Given the description of an element on the screen output the (x, y) to click on. 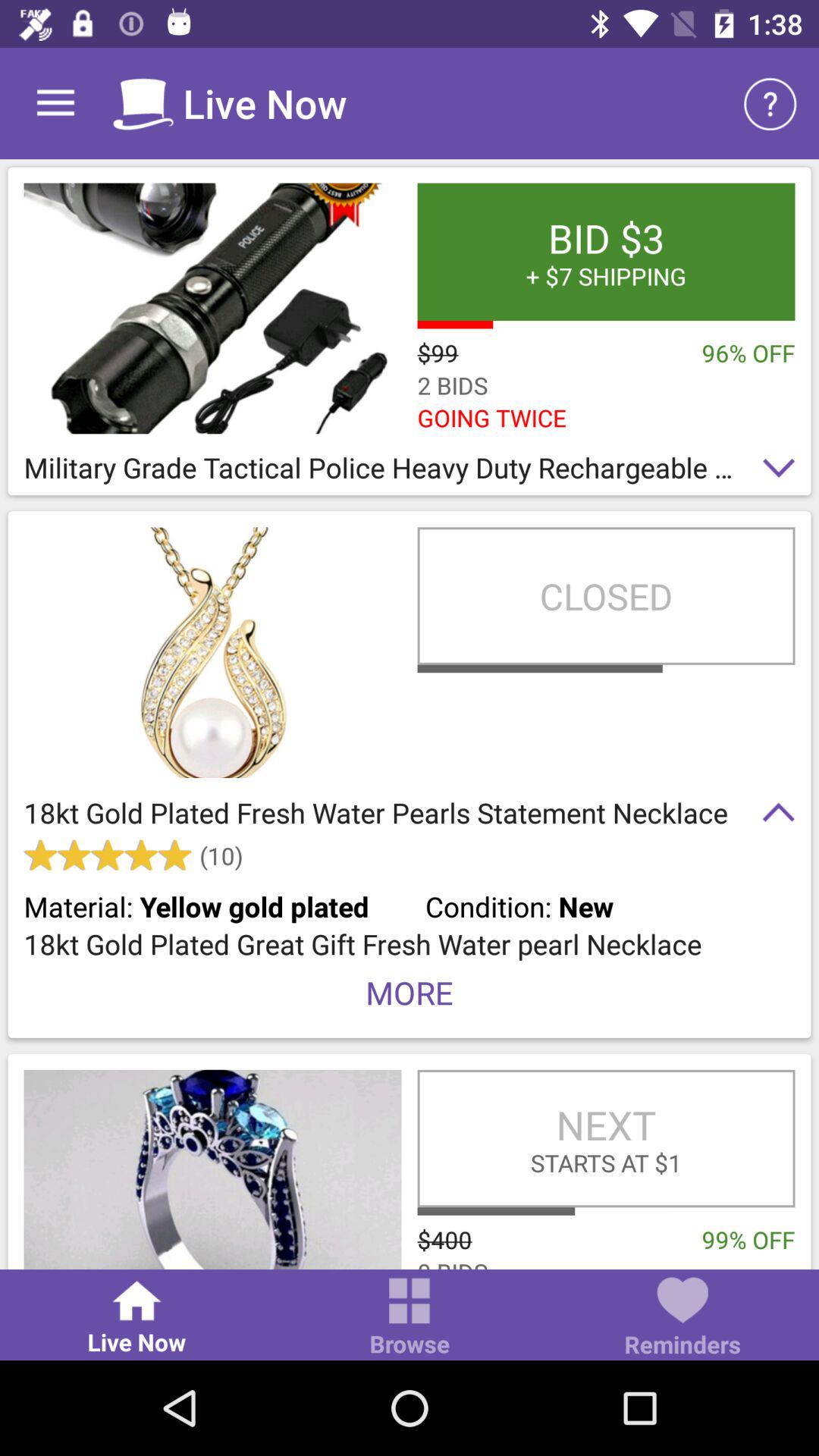
view this item (212, 1169)
